Given the description of an element on the screen output the (x, y) to click on. 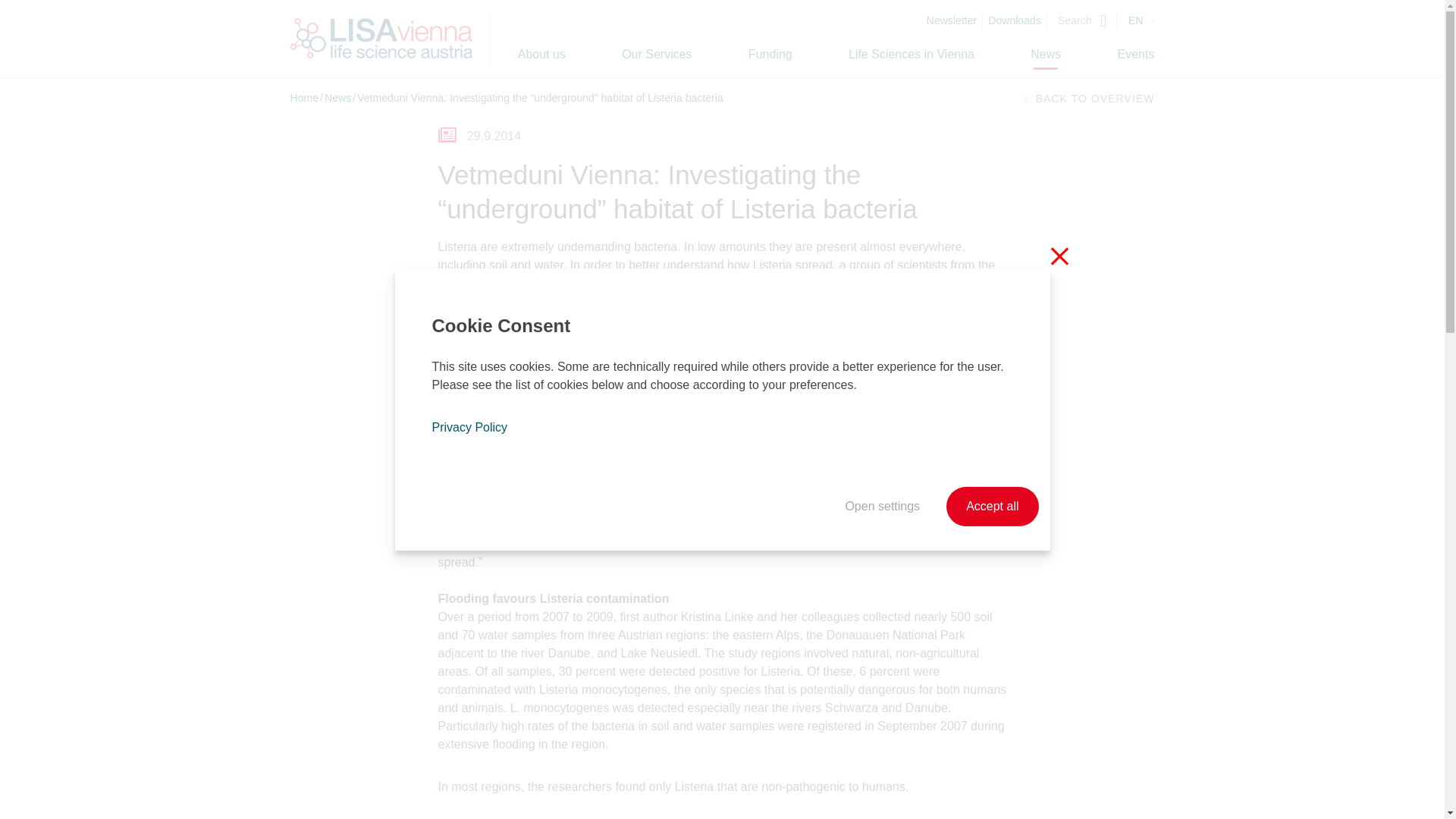
Funding (770, 54)
News (1045, 54)
Events (1136, 54)
Newsletter (957, 20)
BACK TO OVERVIEW (1087, 98)
News (337, 97)
Downloads (1020, 20)
Funding (770, 54)
Home (303, 97)
Our Services (656, 54)
Life Sciences in Vienna (911, 54)
About us (542, 54)
Our Services (656, 54)
LISAvienna - back to home (380, 38)
